Given the description of an element on the screen output the (x, y) to click on. 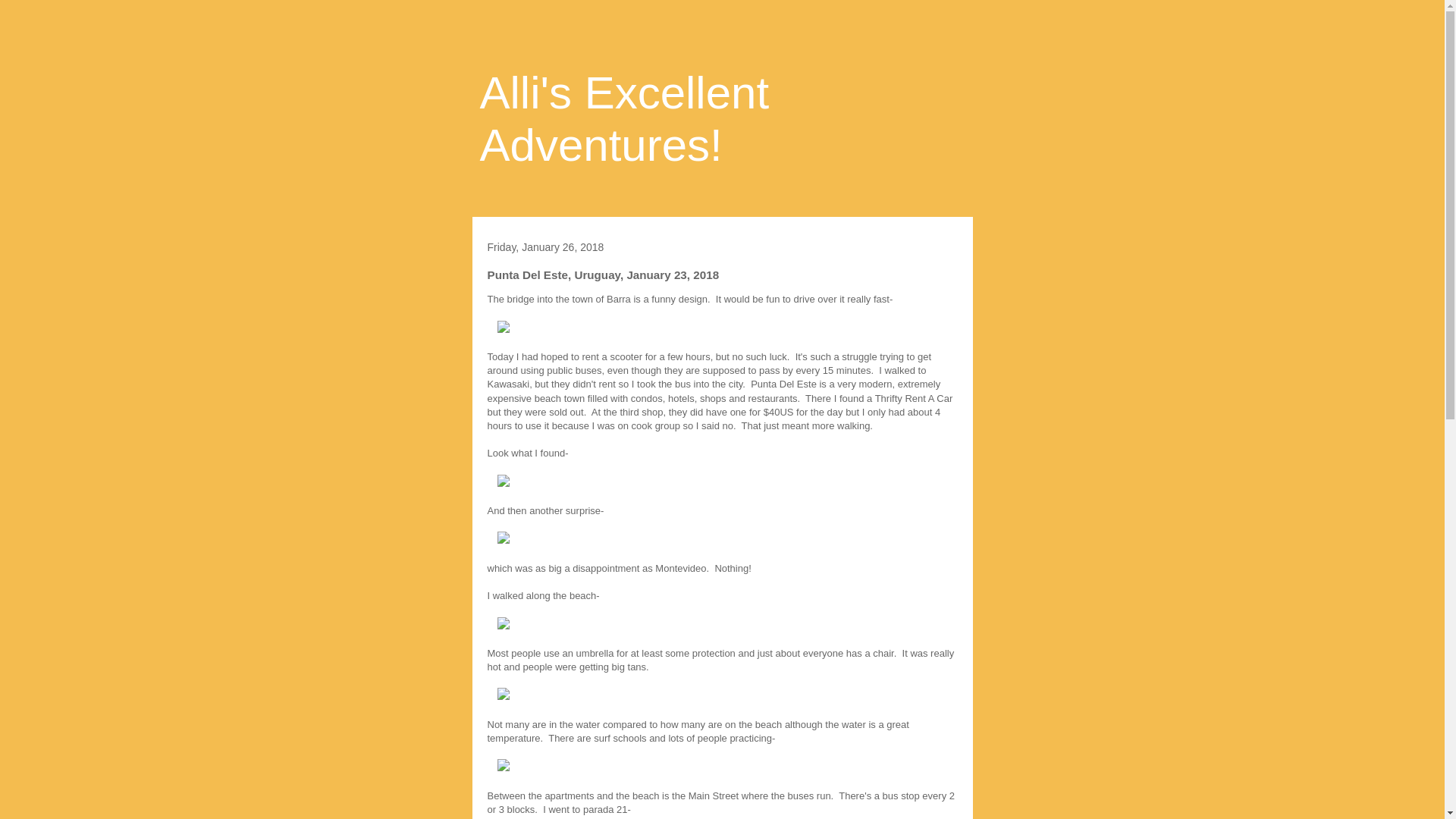
Alli's Excellent Adventures! (623, 118)
